Given the description of an element on the screen output the (x, y) to click on. 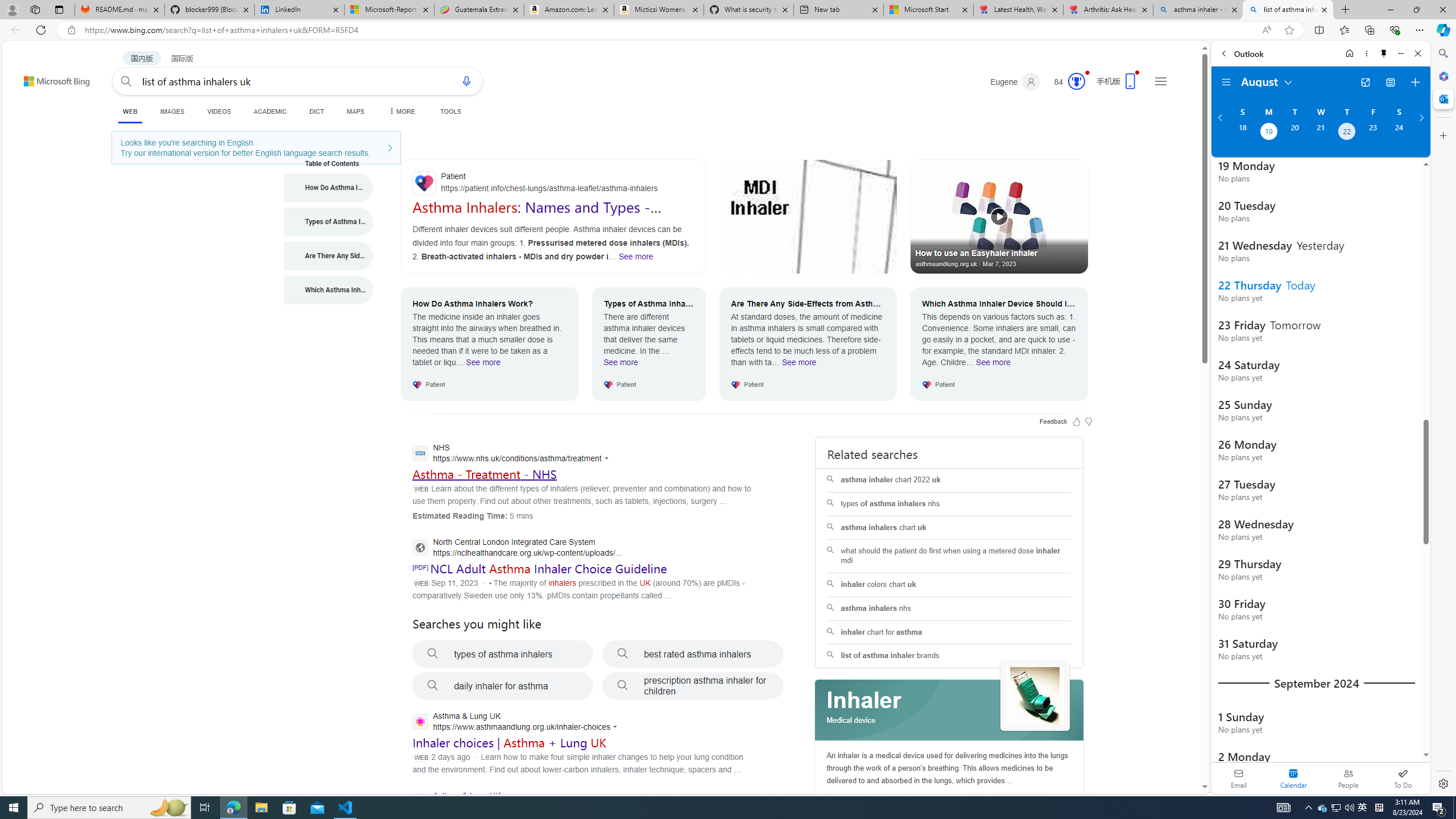
ACADEMIC (269, 111)
AutomationID: serp_medal_svg (1076, 81)
Selected calendar module. Date today is 22 (1293, 777)
Feedback Dislike (1088, 420)
August (1267, 80)
MAPS (355, 111)
types of asthma inhalers (503, 653)
Types of Asthma Inhalers (328, 221)
Monday, August 19, 2024. Date selected.  (1268, 132)
asthma inhalers chart uk (949, 527)
